Given the description of an element on the screen output the (x, y) to click on. 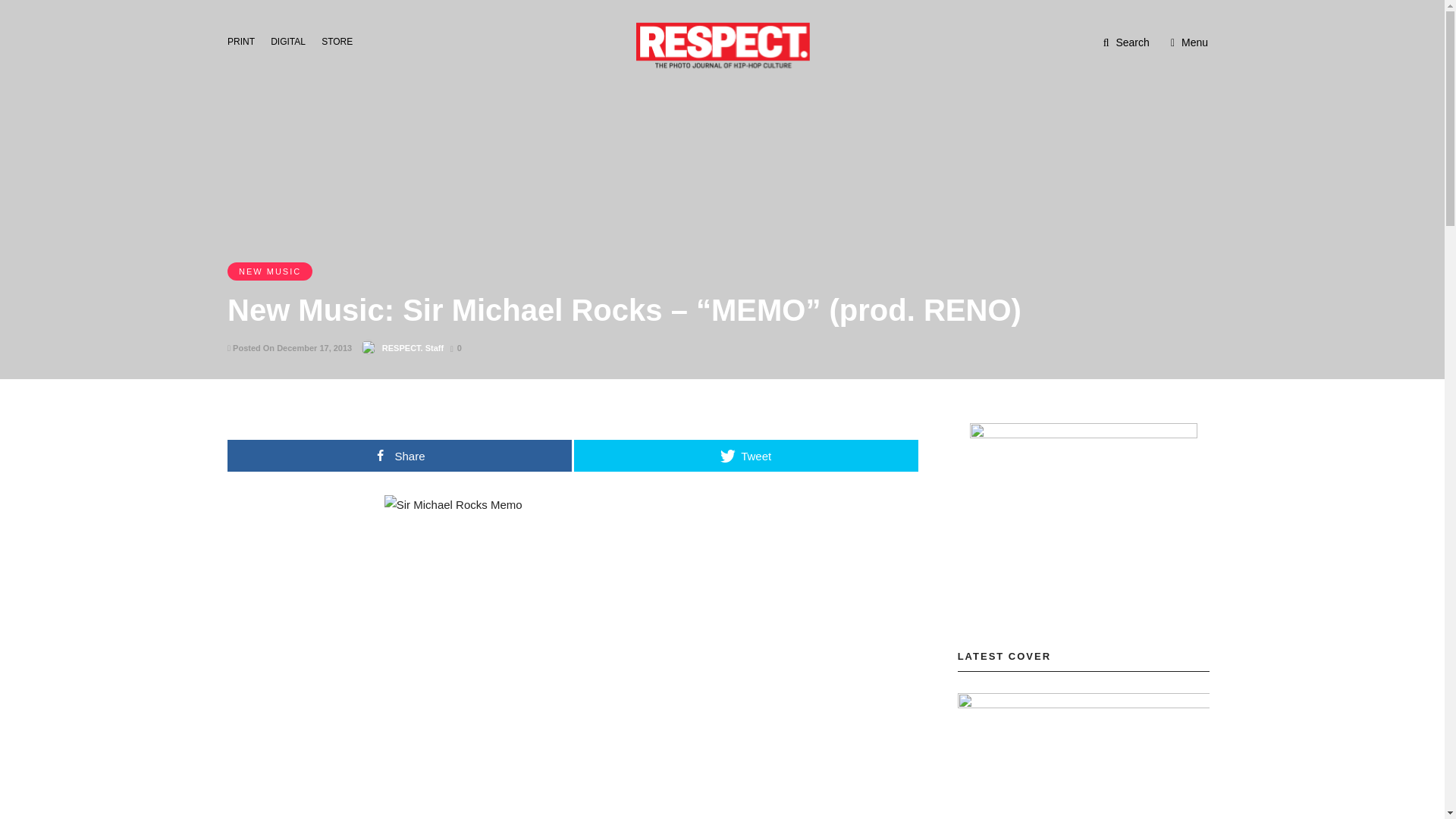
NEW MUSIC (270, 271)
DIGITAL (292, 40)
Search (1126, 41)
Menu (1189, 41)
RESPECT. Staff (412, 347)
PRINT (245, 40)
STORE (341, 40)
